Given the description of an element on the screen output the (x, y) to click on. 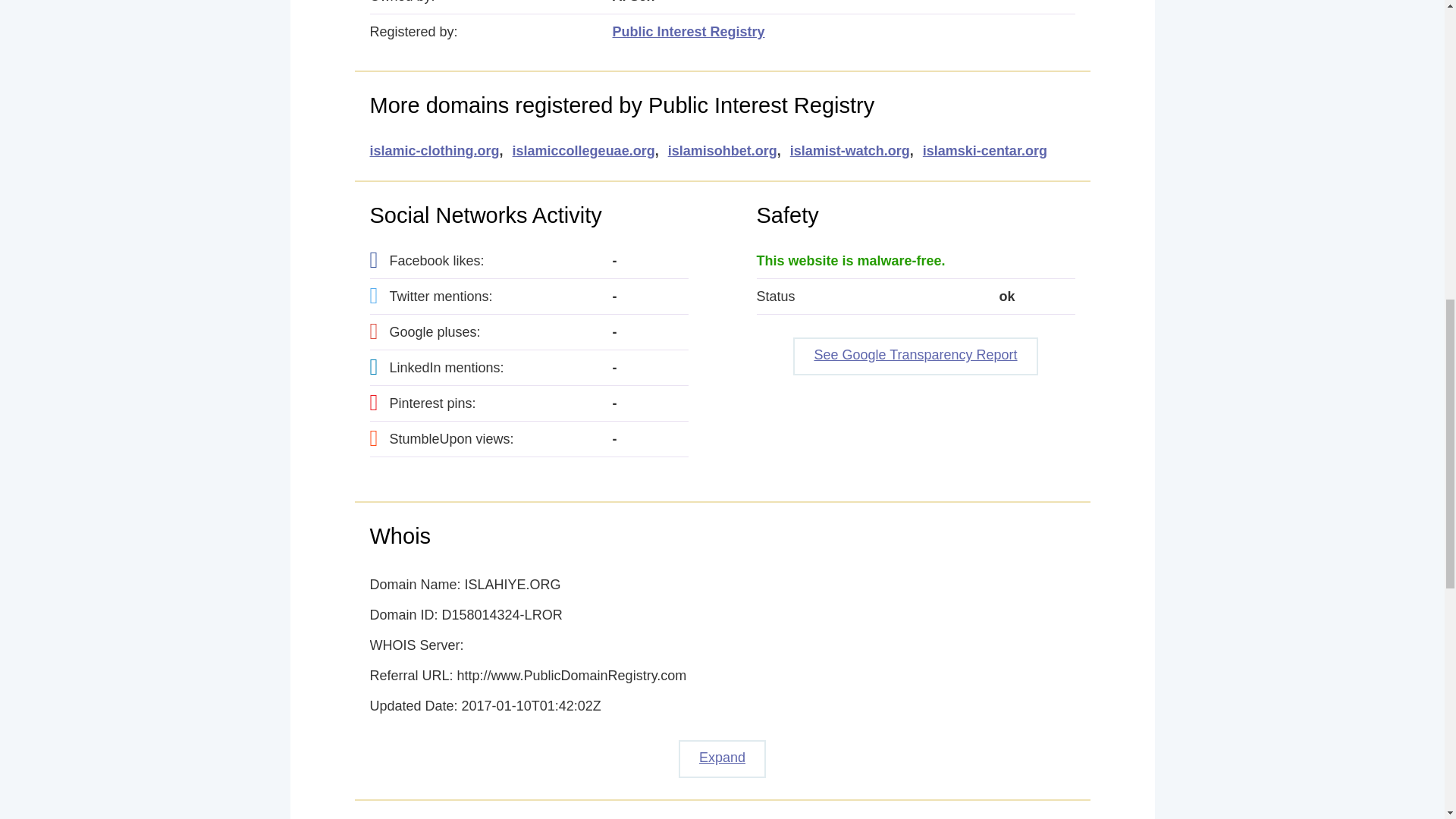
Public Interest Registry (688, 31)
islamisohbet.org (722, 150)
islamski-centar.org (984, 150)
See Google Transparency Report (914, 356)
islamiccollegeuae.org (583, 150)
islamic-clothing.org (434, 150)
Expand (721, 759)
islamist-watch.org (850, 150)
